Given the description of an element on the screen output the (x, y) to click on. 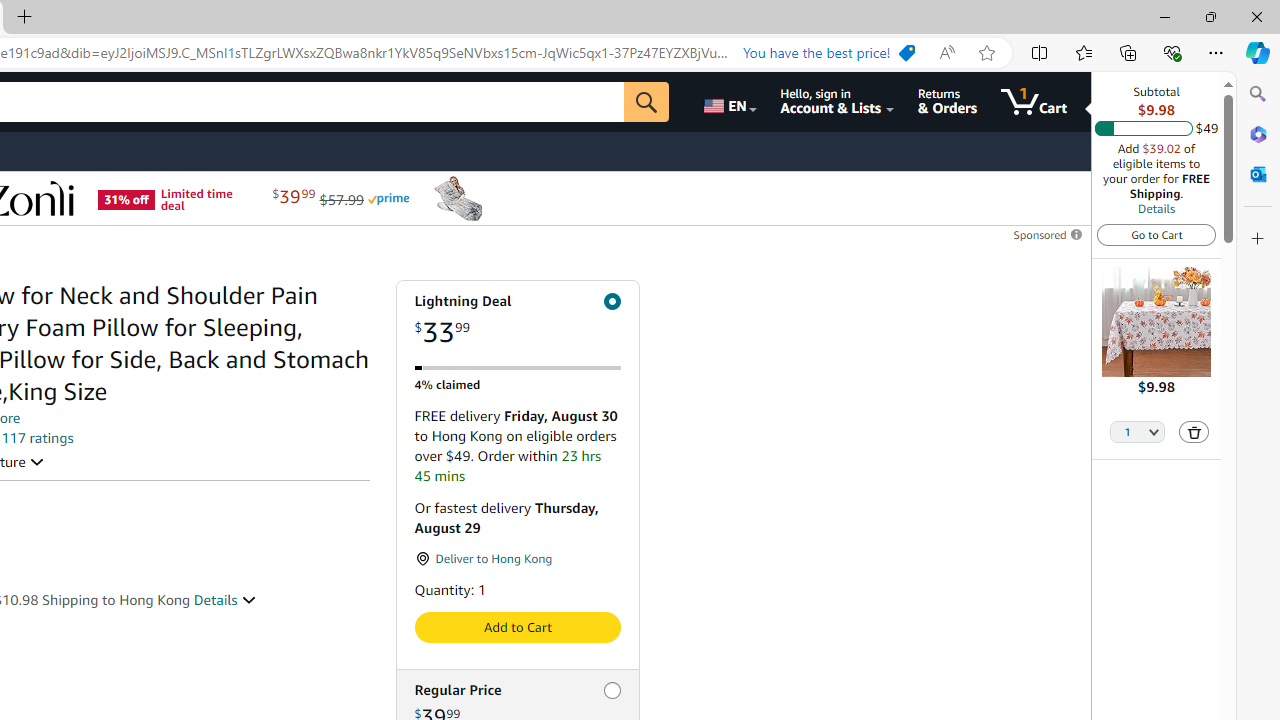
Details (1156, 208)
Returns & Orders (946, 101)
